Given the description of an element on the screen output the (x, y) to click on. 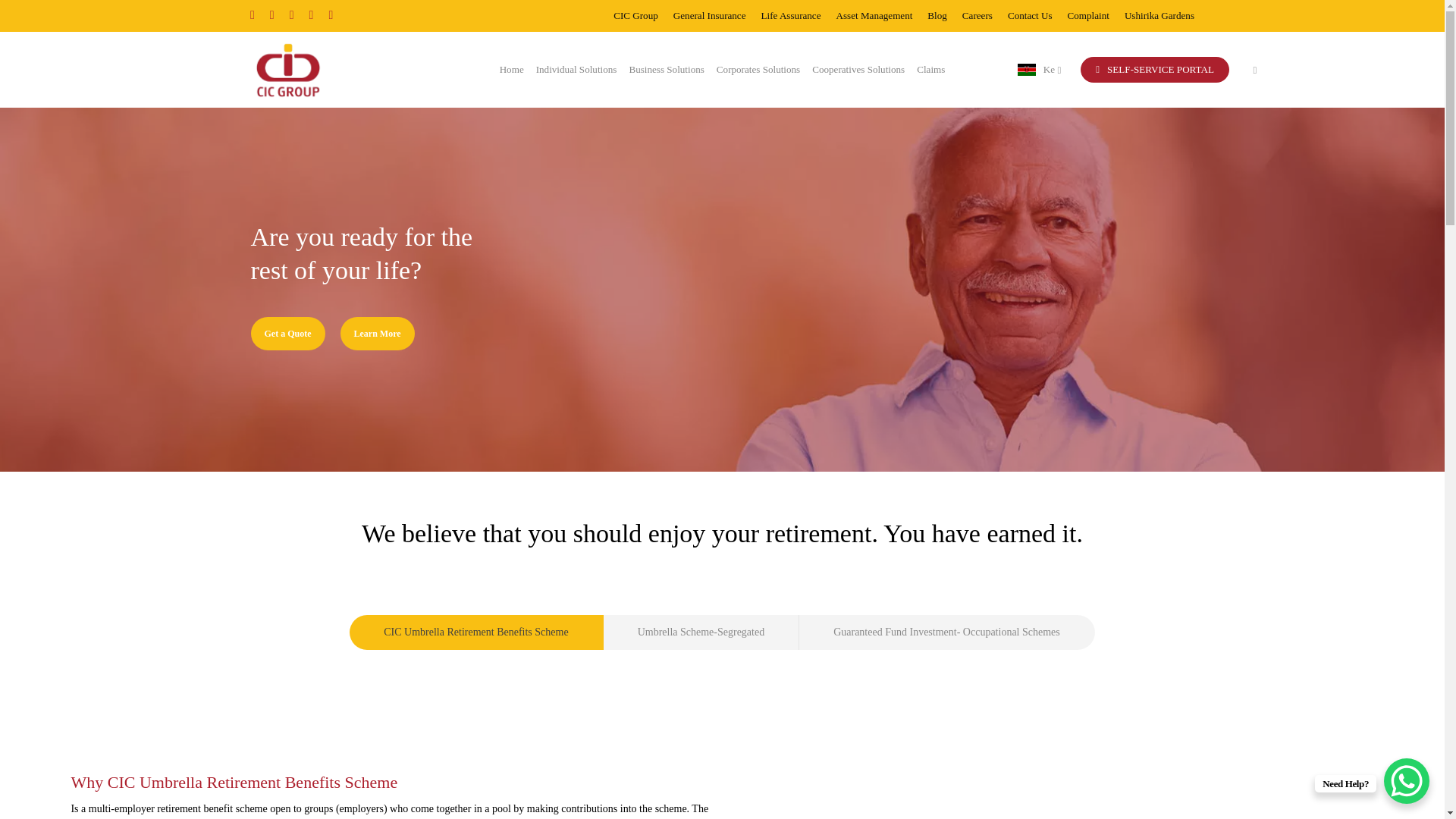
Home (511, 69)
Careers (977, 15)
Ushirika Gardens (1158, 15)
Blog (937, 15)
Business Solutions (666, 69)
Life Assurance (791, 15)
CIC Group (635, 15)
Complaint (1088, 15)
Asset Management (873, 15)
Contact Us (1029, 15)
